Given the description of an element on the screen output the (x, y) to click on. 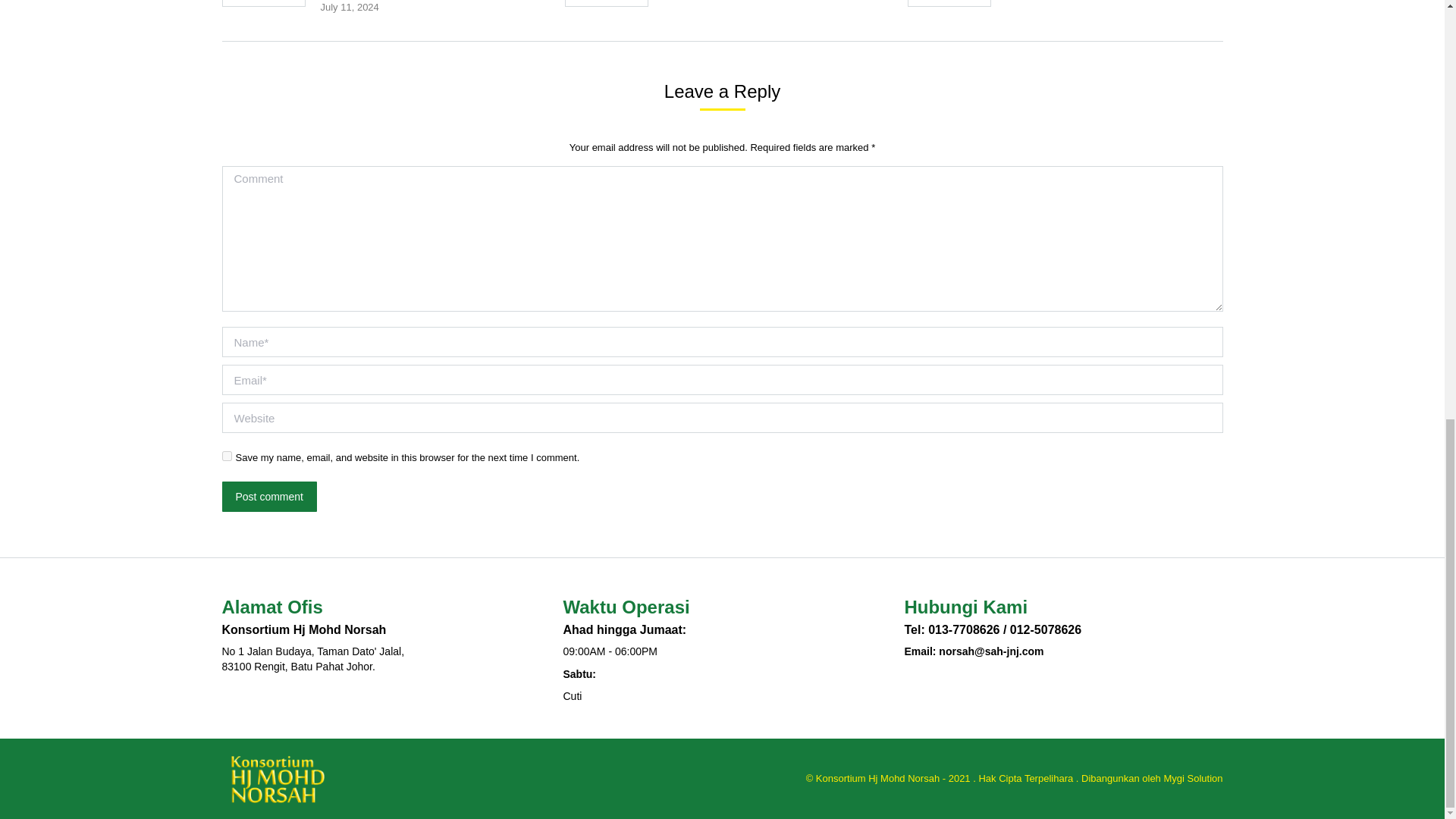
yes (226, 456)
